Given the description of an element on the screen output the (x, y) to click on. 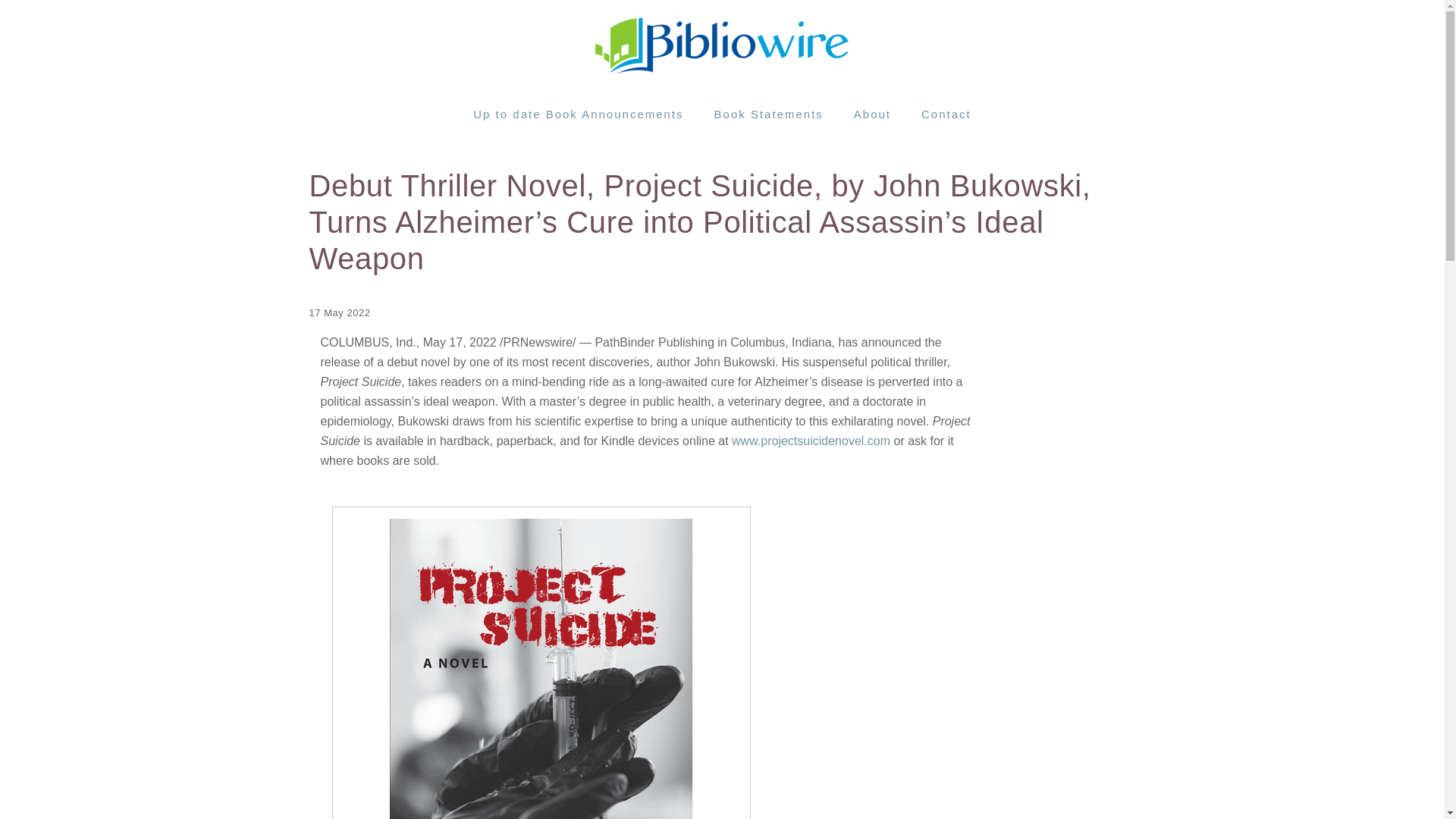
www.projectsuicidenovel.com (810, 440)
Up to date Book Announcements (578, 114)
About (871, 114)
Contact (946, 114)
Book Statements (768, 114)
